Given the description of an element on the screen output the (x, y) to click on. 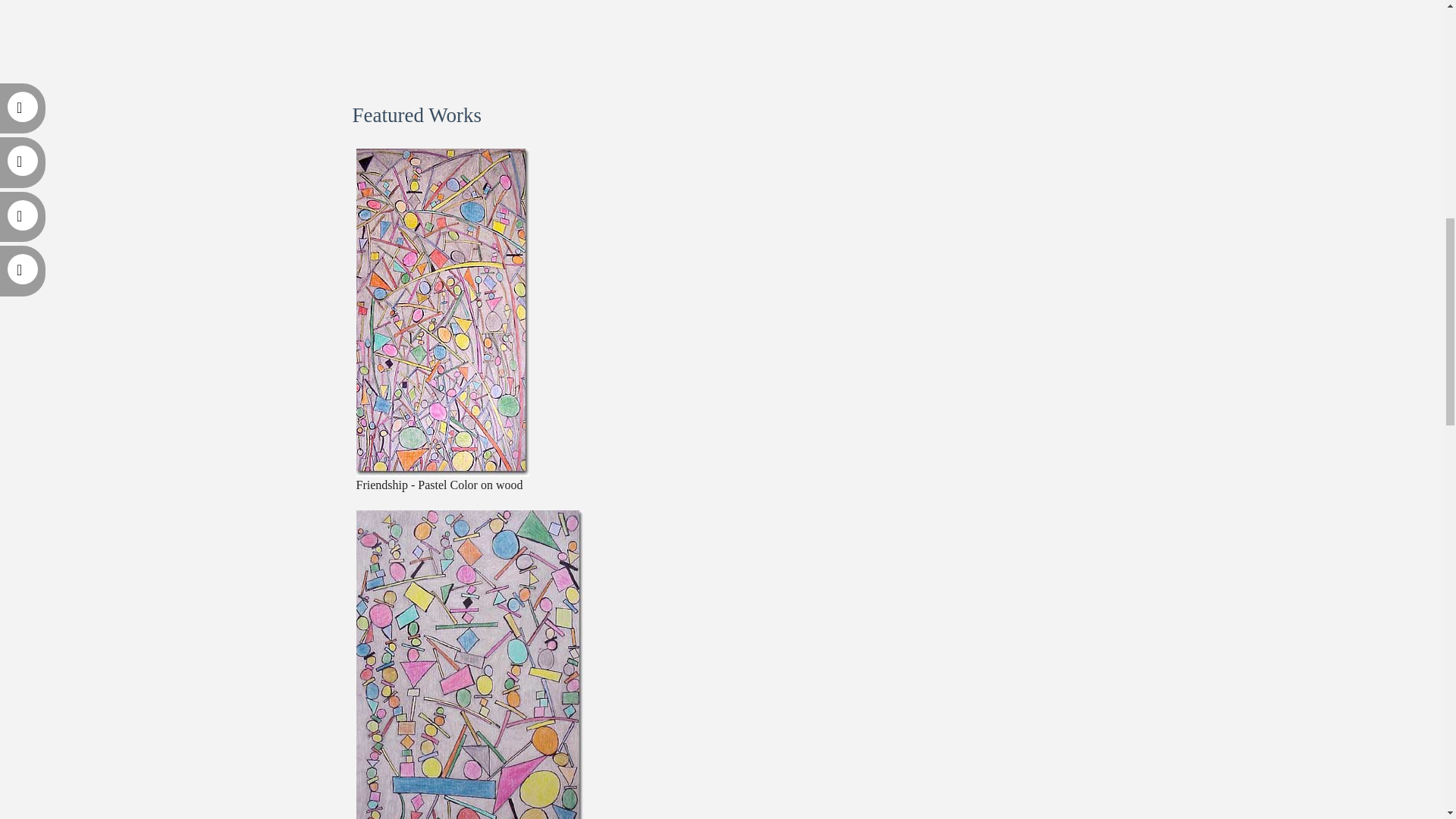
Advertisement (721, 25)
